Given the description of an element on the screen output the (x, y) to click on. 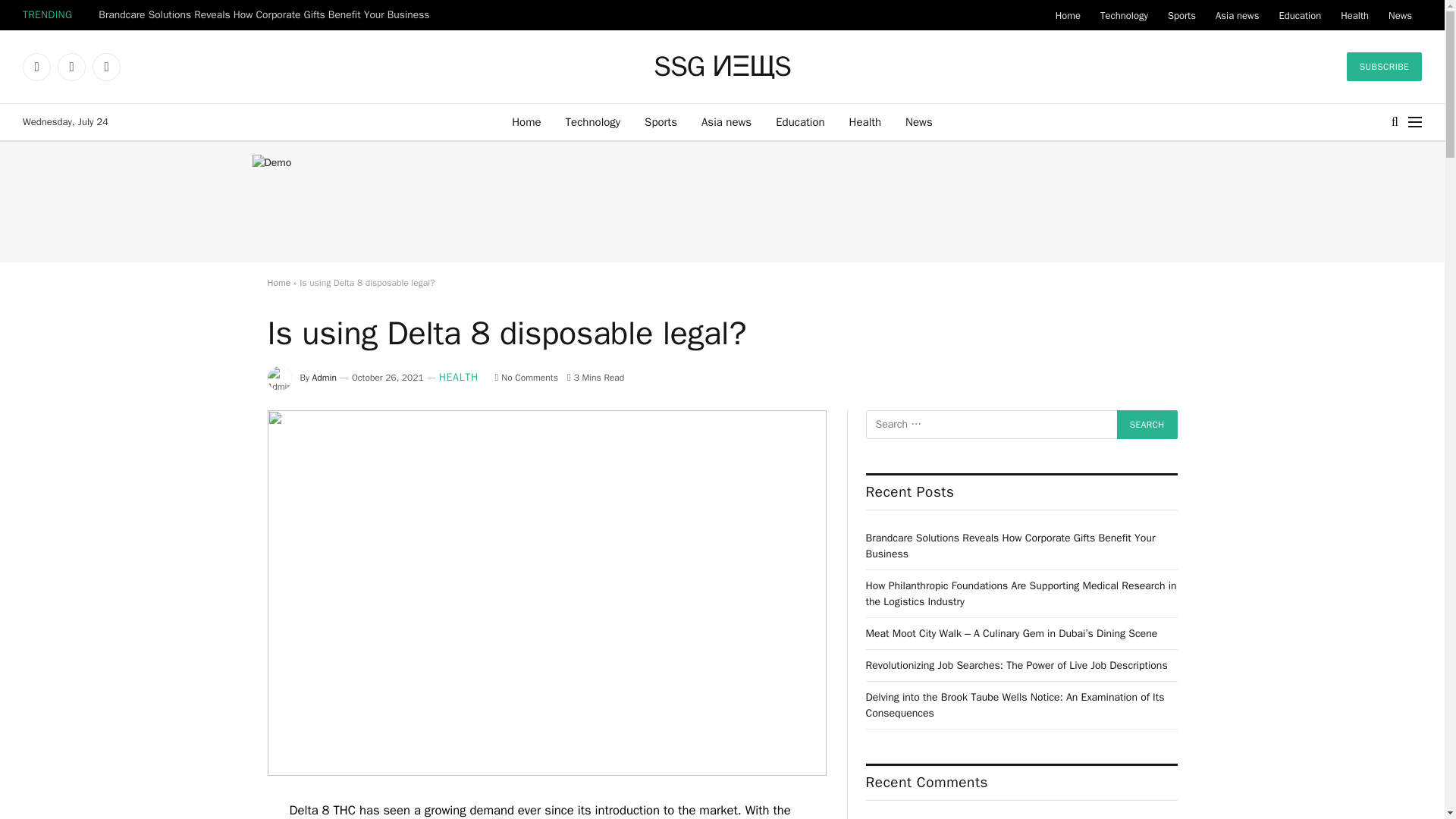
Health (1354, 15)
Search (1146, 424)
Education (798, 122)
Health (865, 122)
Asia news (1236, 15)
Facebook (36, 67)
News (1400, 15)
Home (1067, 15)
Search (1146, 424)
News (918, 122)
Sports (1181, 15)
Education (1299, 15)
Posts by Admin (324, 377)
